Given the description of an element on the screen output the (x, y) to click on. 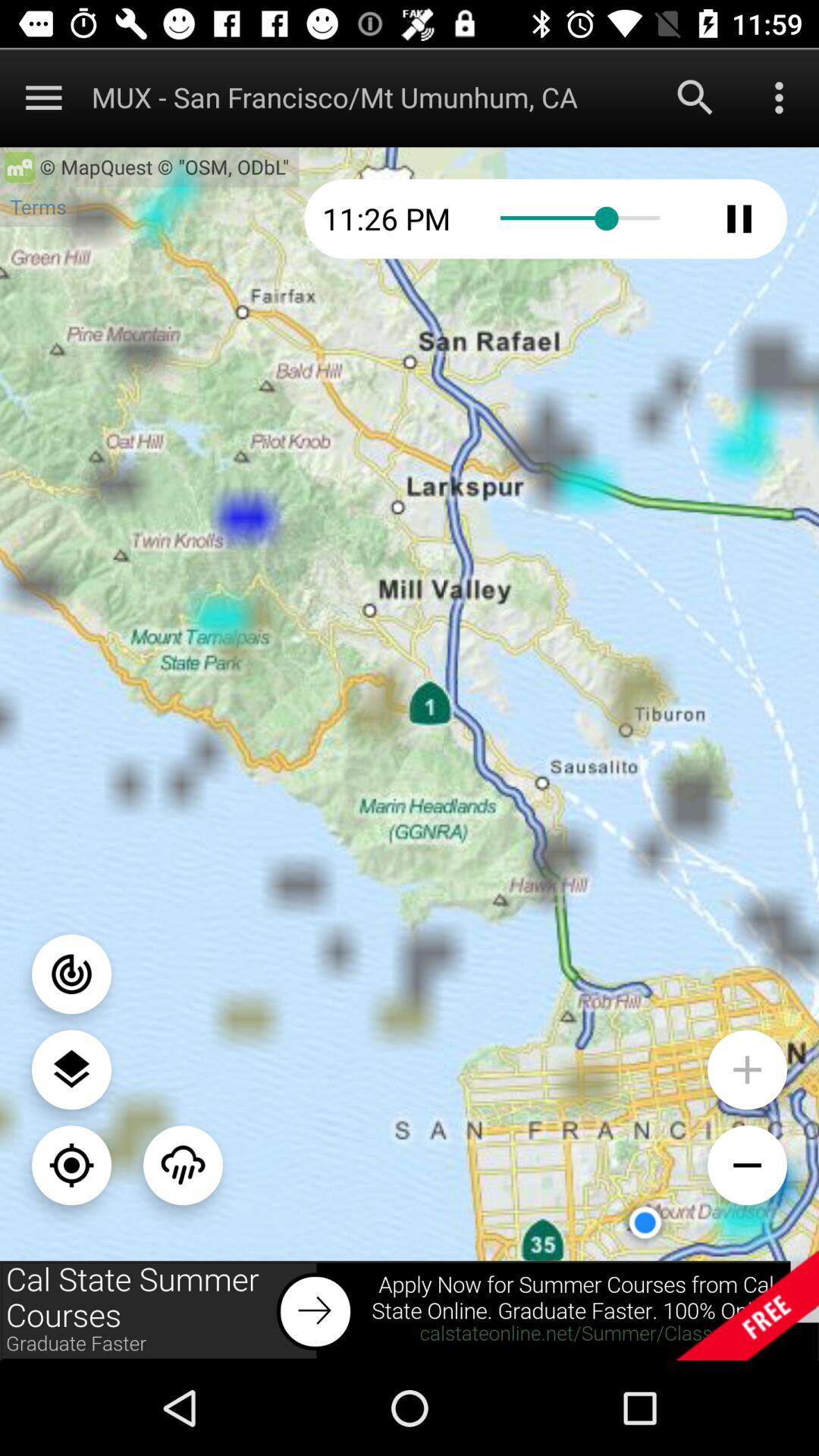
launch advertisement (409, 1310)
